Given the description of an element on the screen output the (x, y) to click on. 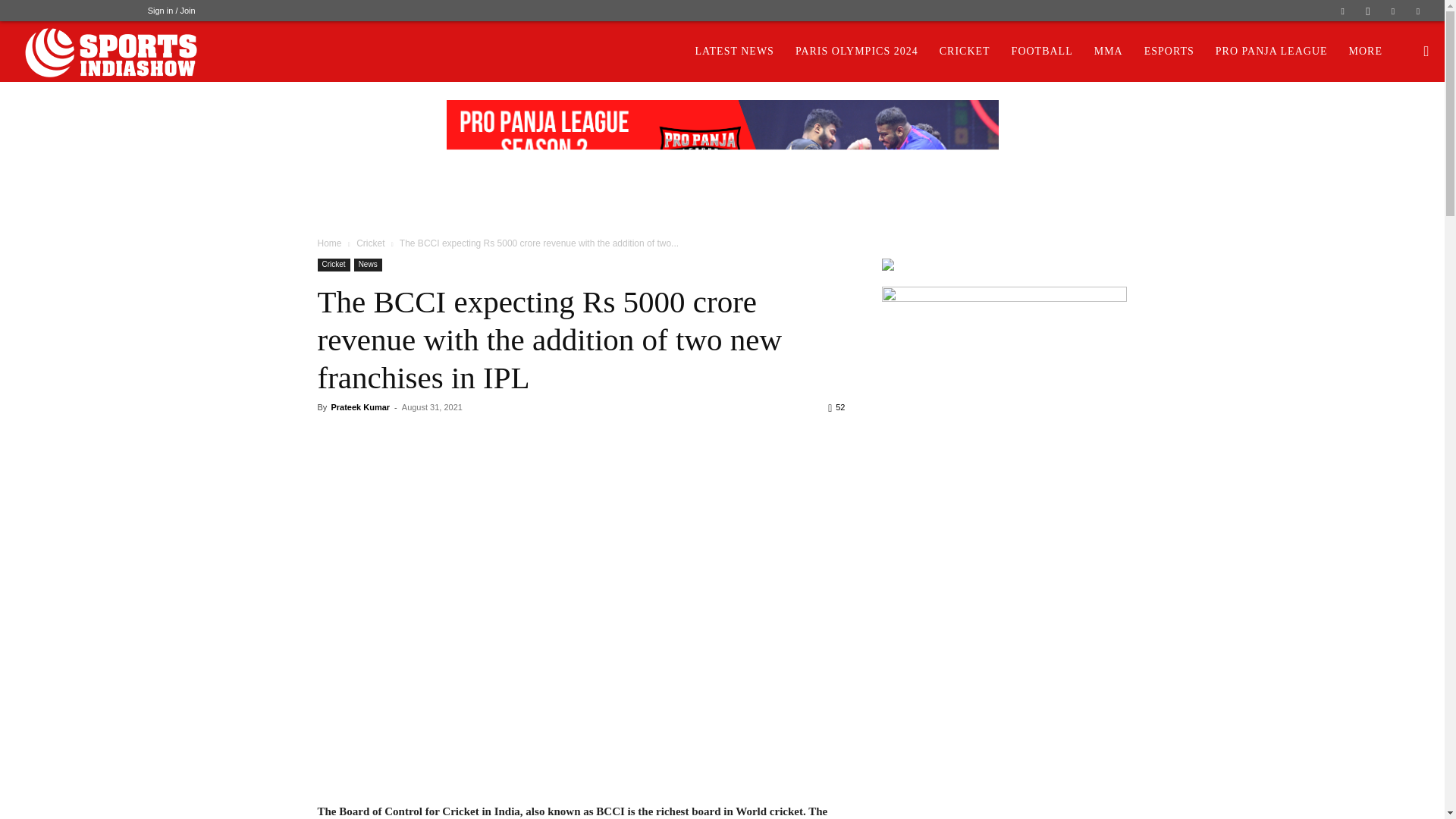
Instagram (1367, 10)
Twitter (1393, 10)
Facebook (1343, 10)
Youtube (1417, 10)
